Given the description of an element on the screen output the (x, y) to click on. 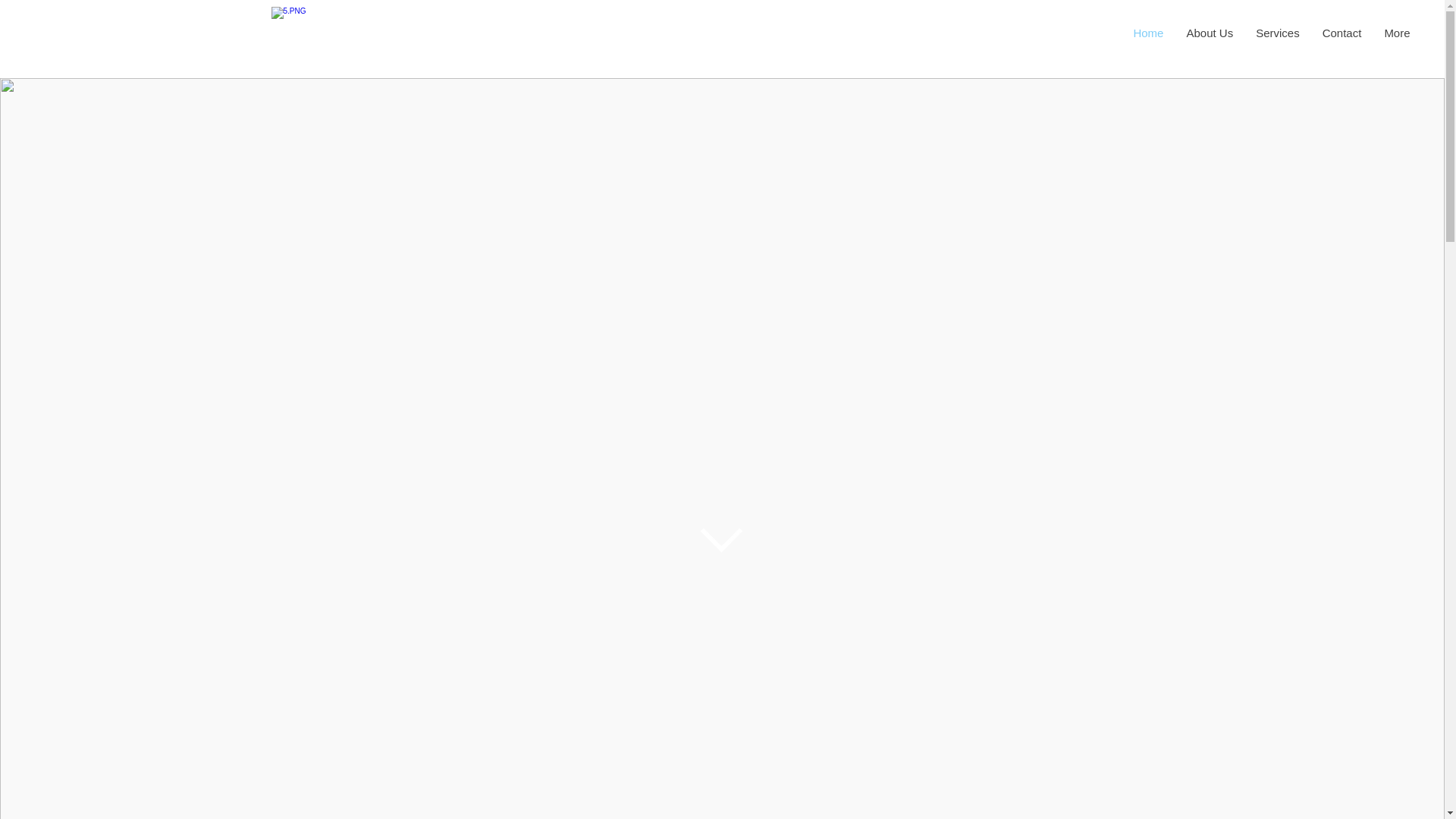
Home (1147, 37)
Contact (1342, 37)
Services (1277, 37)
About Us (1209, 37)
